Given the description of an element on the screen output the (x, y) to click on. 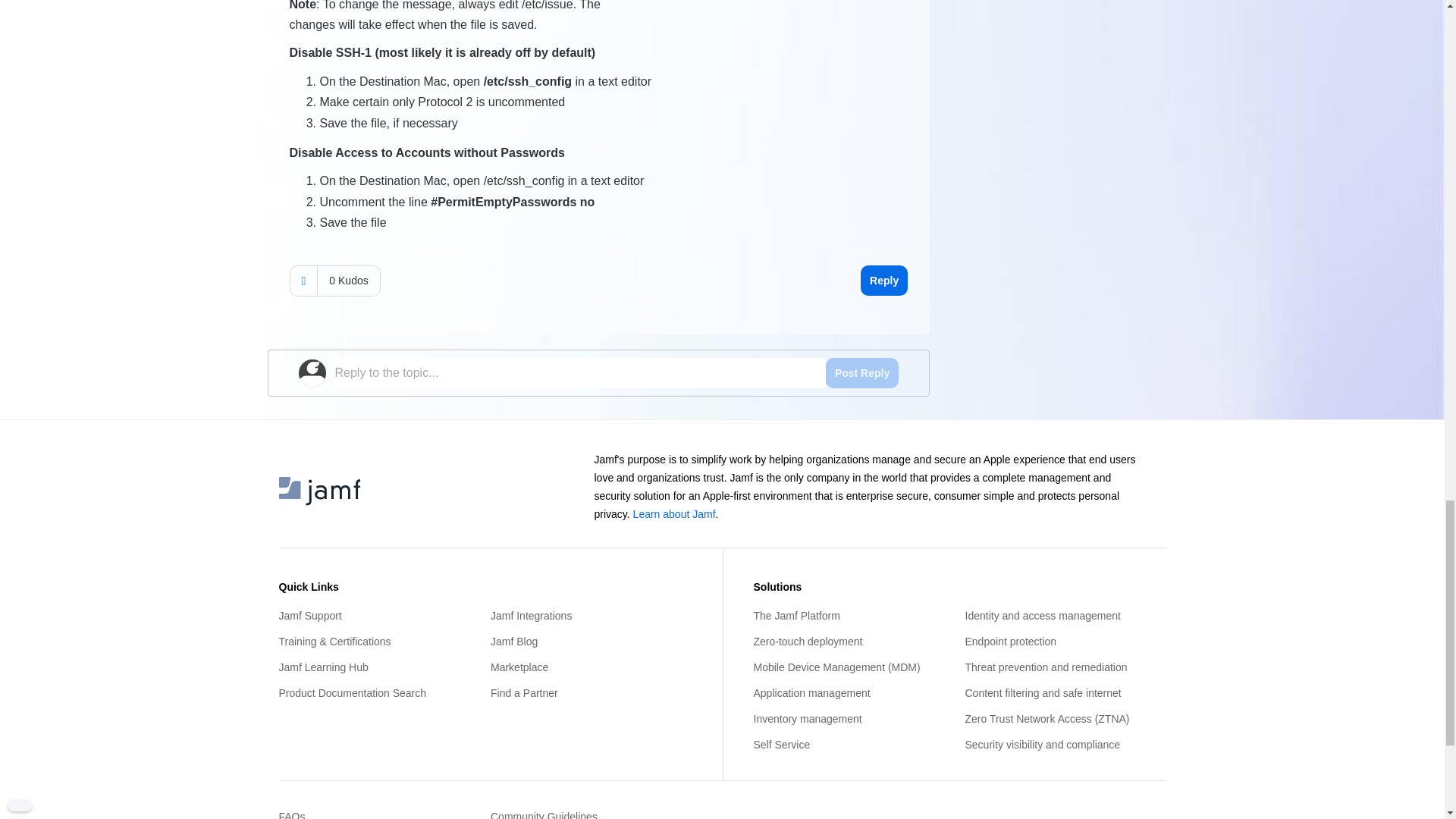
Post Reply (861, 372)
Reply (883, 280)
Click here to give kudos to this post. (303, 280)
The total number of kudos this post has received. (347, 280)
